Given the description of an element on the screen output the (x, y) to click on. 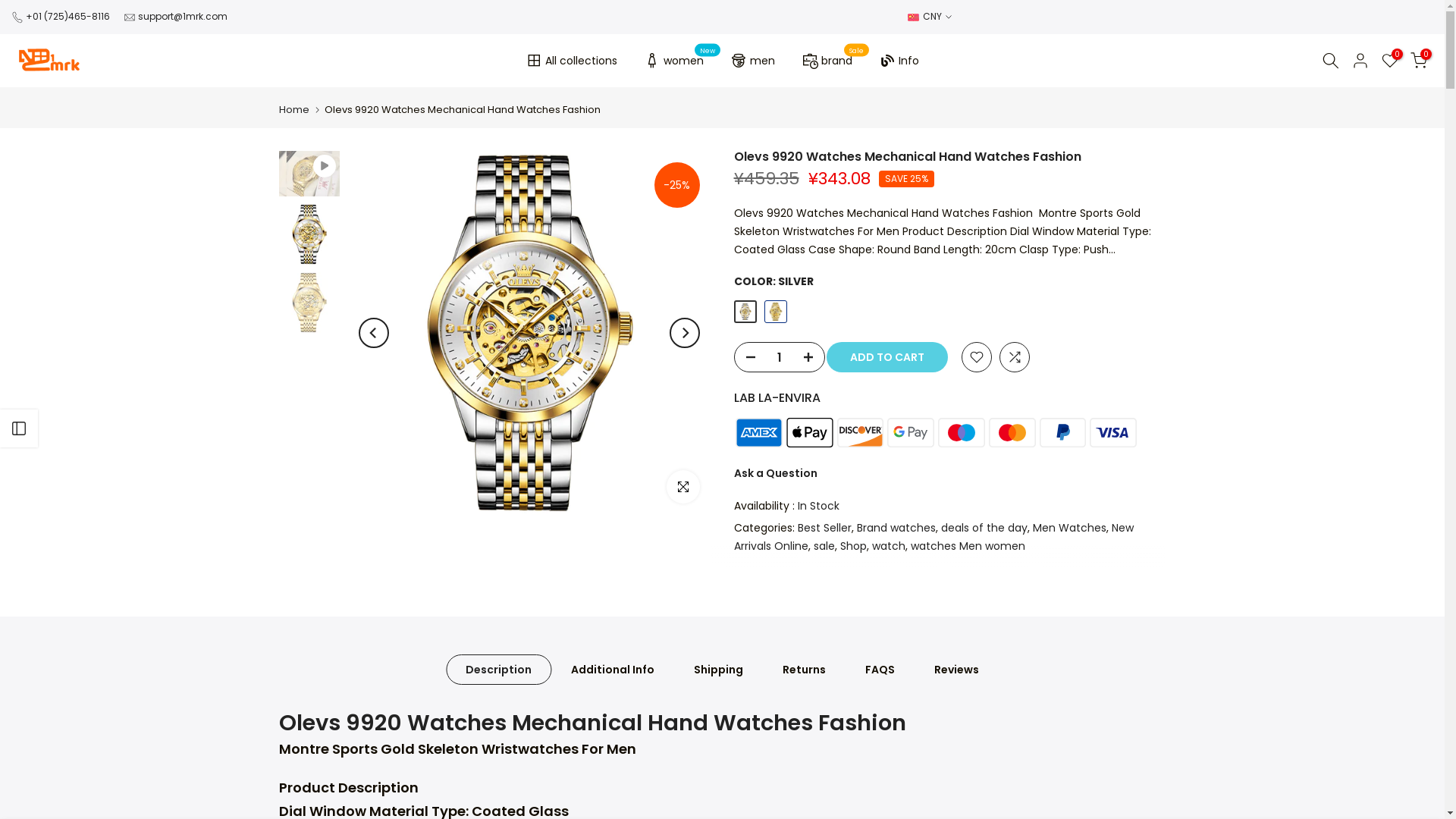
Info Element type: text (898, 60)
Best Seller Element type: text (824, 527)
ADD TO CART Element type: text (892, 357)
watches Men women Element type: text (967, 545)
support@1mrk.com Element type: text (182, 15)
FAQS Element type: text (879, 669)
watch Element type: text (888, 545)
New Arrivals Online Element type: text (933, 536)
Reviews Element type: text (956, 669)
Ask a Question Element type: text (775, 472)
brand
Sale Element type: text (826, 60)
men Element type: text (751, 60)
Additional Info Element type: text (612, 669)
Shop Element type: text (853, 545)
Returns Element type: text (803, 669)
Description Element type: text (498, 669)
USD Element type: text (929, 16)
+01 (725)465-8116 Element type: text (67, 15)
0 Element type: text (1418, 60)
0 Element type: text (1389, 60)
Men Watches Element type: text (1069, 527)
deals of the day Element type: text (983, 527)
All collections Element type: text (570, 60)
Home Element type: text (294, 109)
women
New Element type: text (673, 60)
sale Element type: text (823, 545)
Brand watches Element type: text (895, 527)
Shipping Element type: text (718, 669)
